Given the description of an element on the screen output the (x, y) to click on. 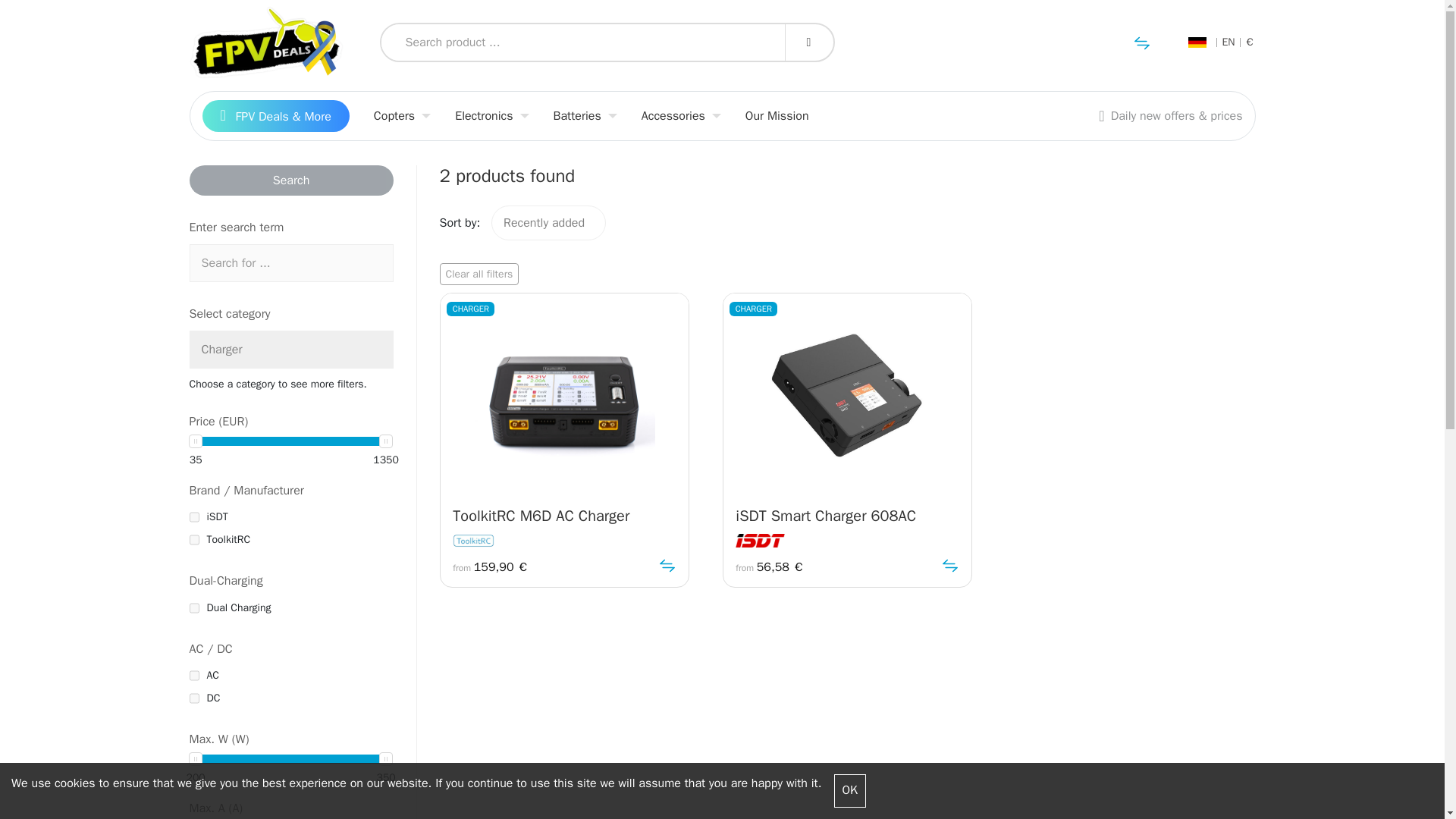
Batteries (584, 116)
iSDT Smart Charger 608AC (847, 515)
Search (291, 180)
Accessories (680, 116)
Our Mission (777, 116)
ToolkitRC M6D AC Charger (564, 515)
Copters (401, 116)
Electronics (491, 116)
